Given the description of an element on the screen output the (x, y) to click on. 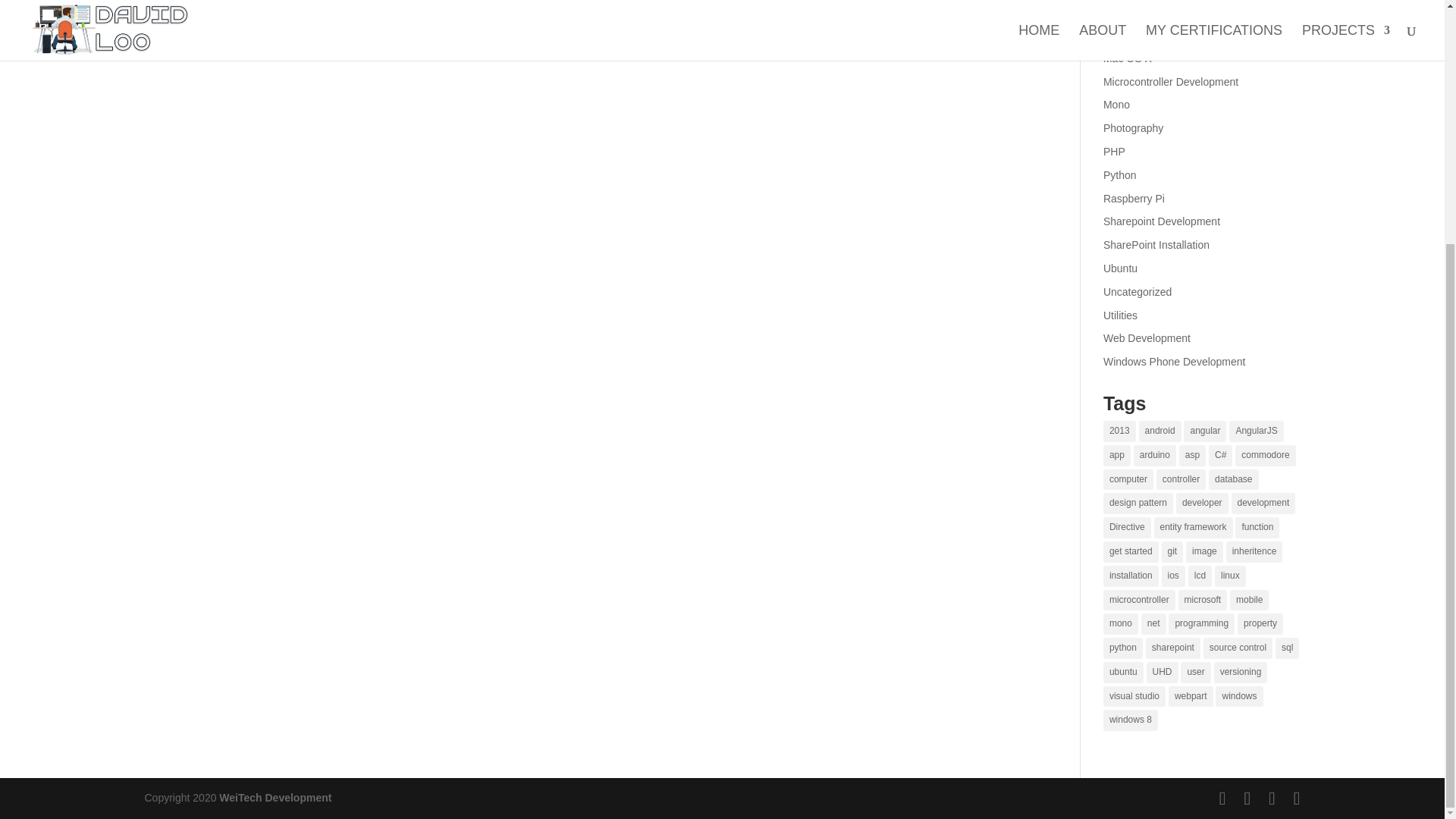
Photography (1133, 128)
angular (1204, 431)
2013 (1119, 431)
AngularJS (1255, 431)
Raspberry Pi (1133, 198)
Mac OS X (1127, 58)
Linux Development (1148, 34)
Utilities (1120, 315)
app (1117, 455)
jQuery (1118, 10)
Microcontroller Development (1171, 81)
Mono (1116, 104)
SharePoint Installation (1156, 244)
Uncategorized (1137, 291)
Windows Phone Development (1174, 361)
